Given the description of an element on the screen output the (x, y) to click on. 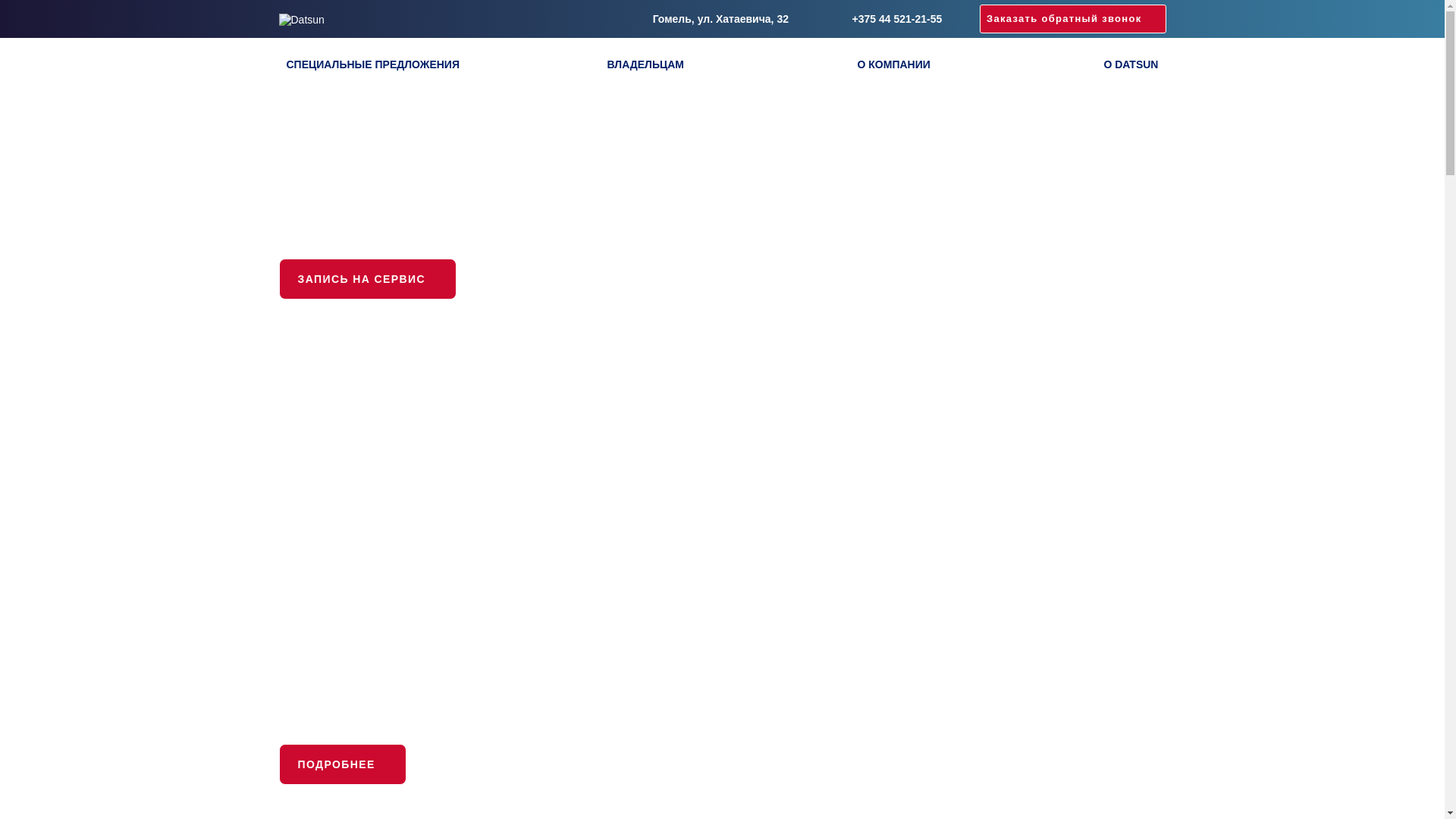
+375 44 521-21-55 Element type: text (884, 18)
